Given the description of an element on the screen output the (x, y) to click on. 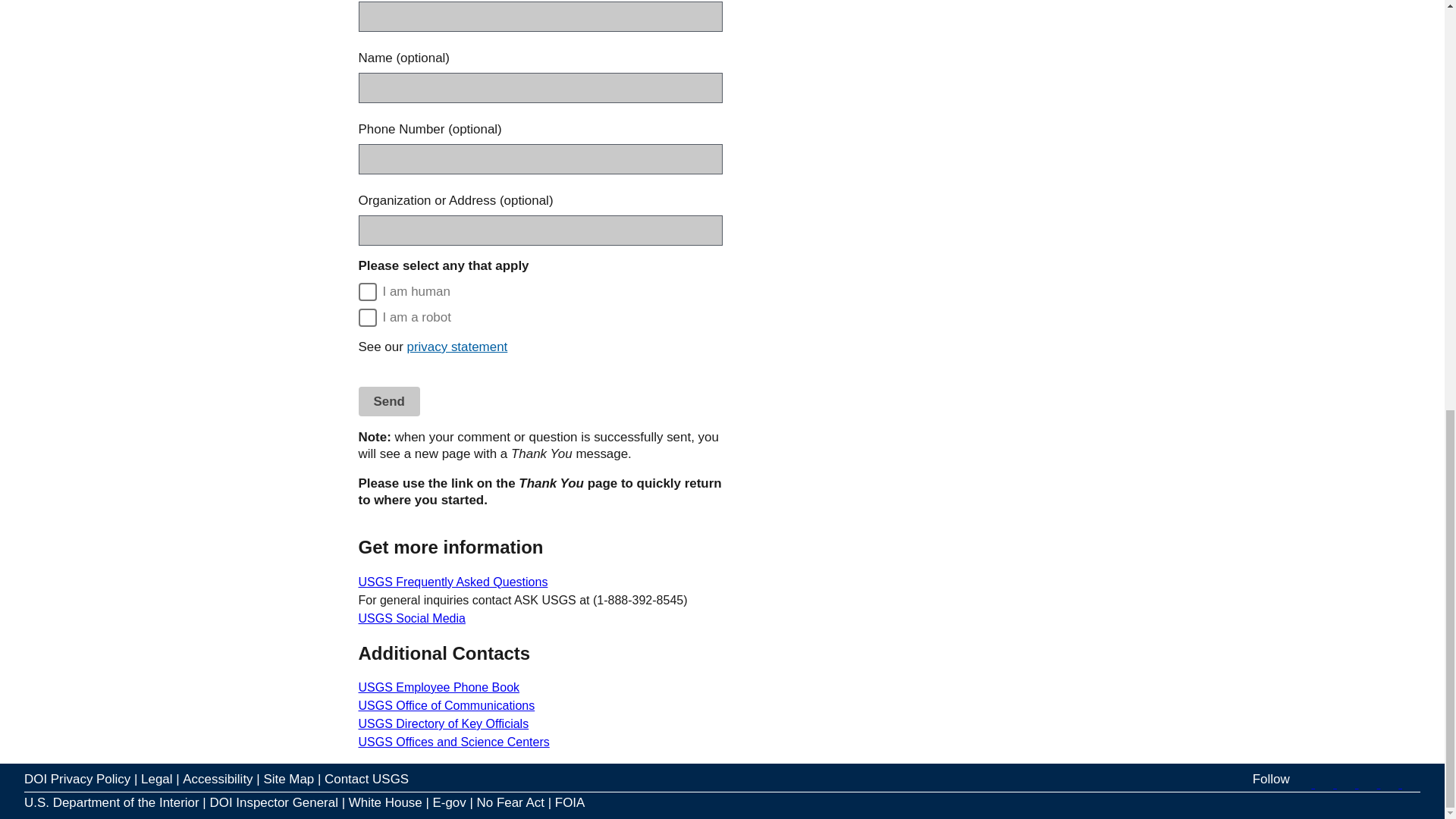
USGS Instagram (1411, 783)
USGS Frequently Asked Questions (452, 581)
USGS Offices and Science Centers (453, 741)
White House (385, 802)
USGS Twitter (1303, 783)
USGS Employee Phone Book (438, 686)
privacy statement (457, 346)
DOI Privacy Policy (77, 778)
USGS Social Media (411, 617)
Legal (156, 778)
USGS Flickr (1369, 783)
E-gov (448, 802)
U.S. Department of the Interior (111, 802)
Send (388, 401)
USGS Office of Communications (446, 705)
